Given the description of an element on the screen output the (x, y) to click on. 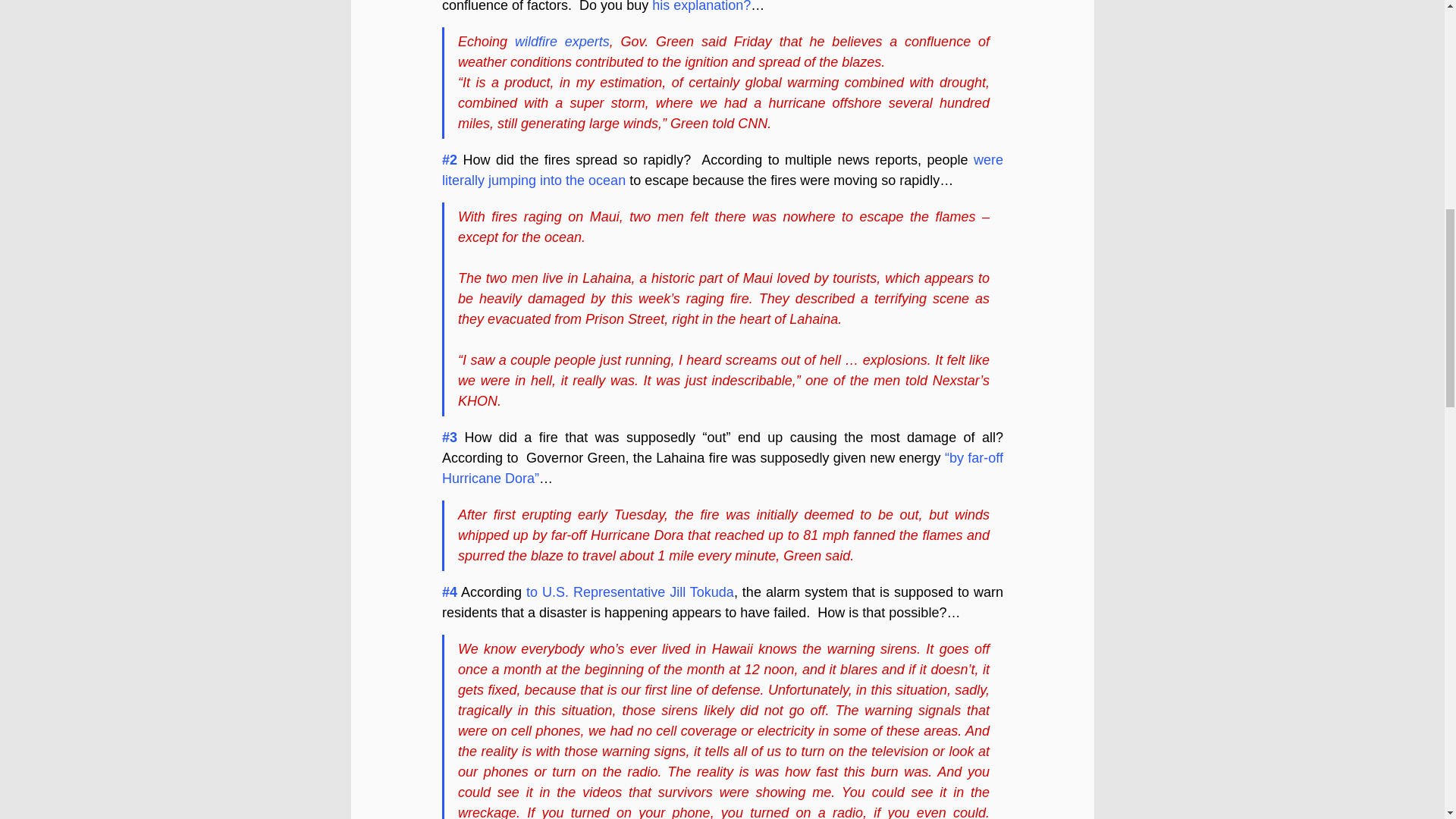
were literally jumping into the ocean (723, 170)
his explanation? (701, 6)
to U.S. Representative Jill Tokuda (629, 591)
wildfire experts (560, 41)
